Given the description of an element on the screen output the (x, y) to click on. 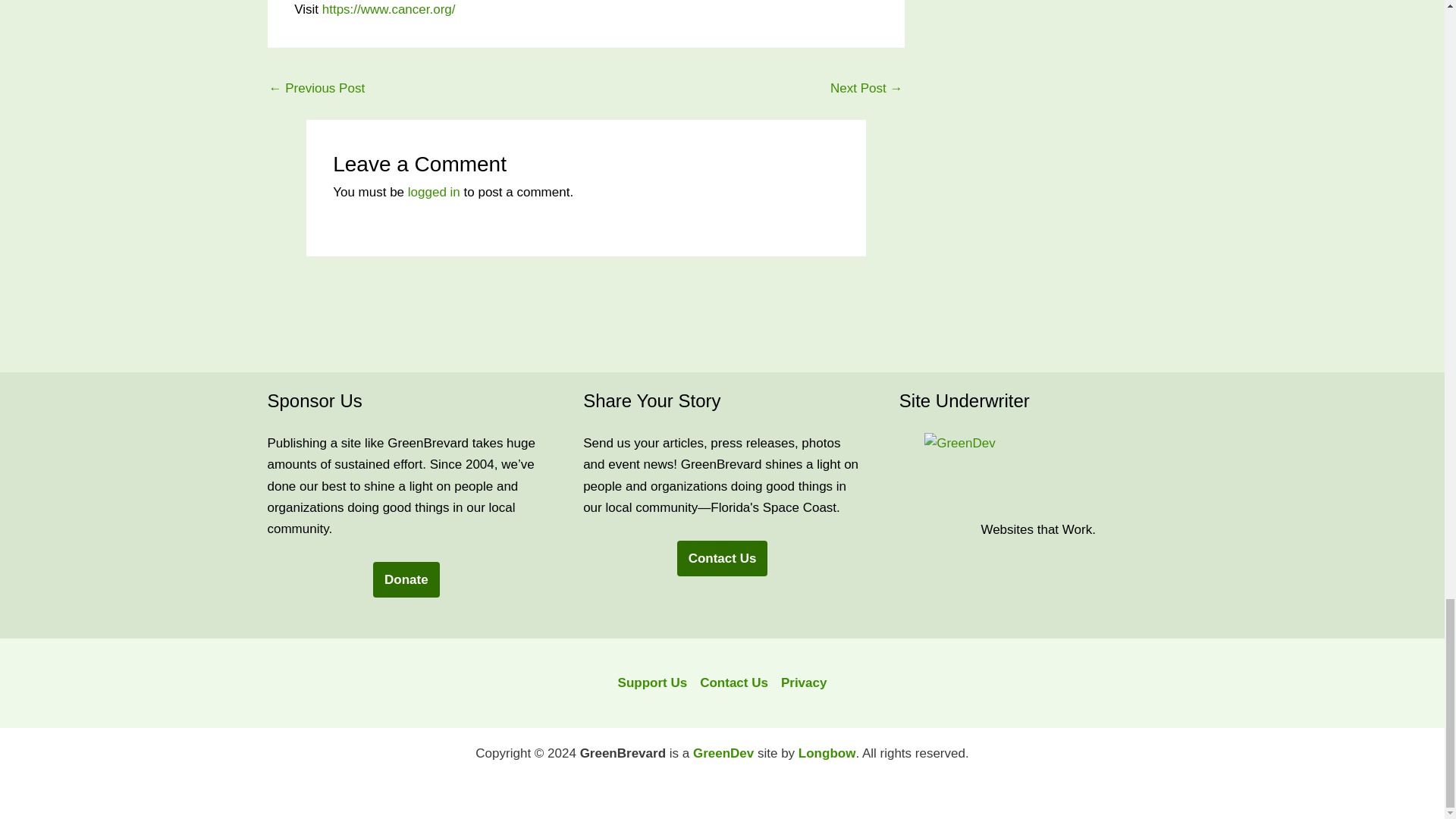
logged in (433, 192)
The Synergistic Life (865, 90)
GreenDev (1037, 470)
Flamingo Run (316, 90)
